Given the description of an element on the screen output the (x, y) to click on. 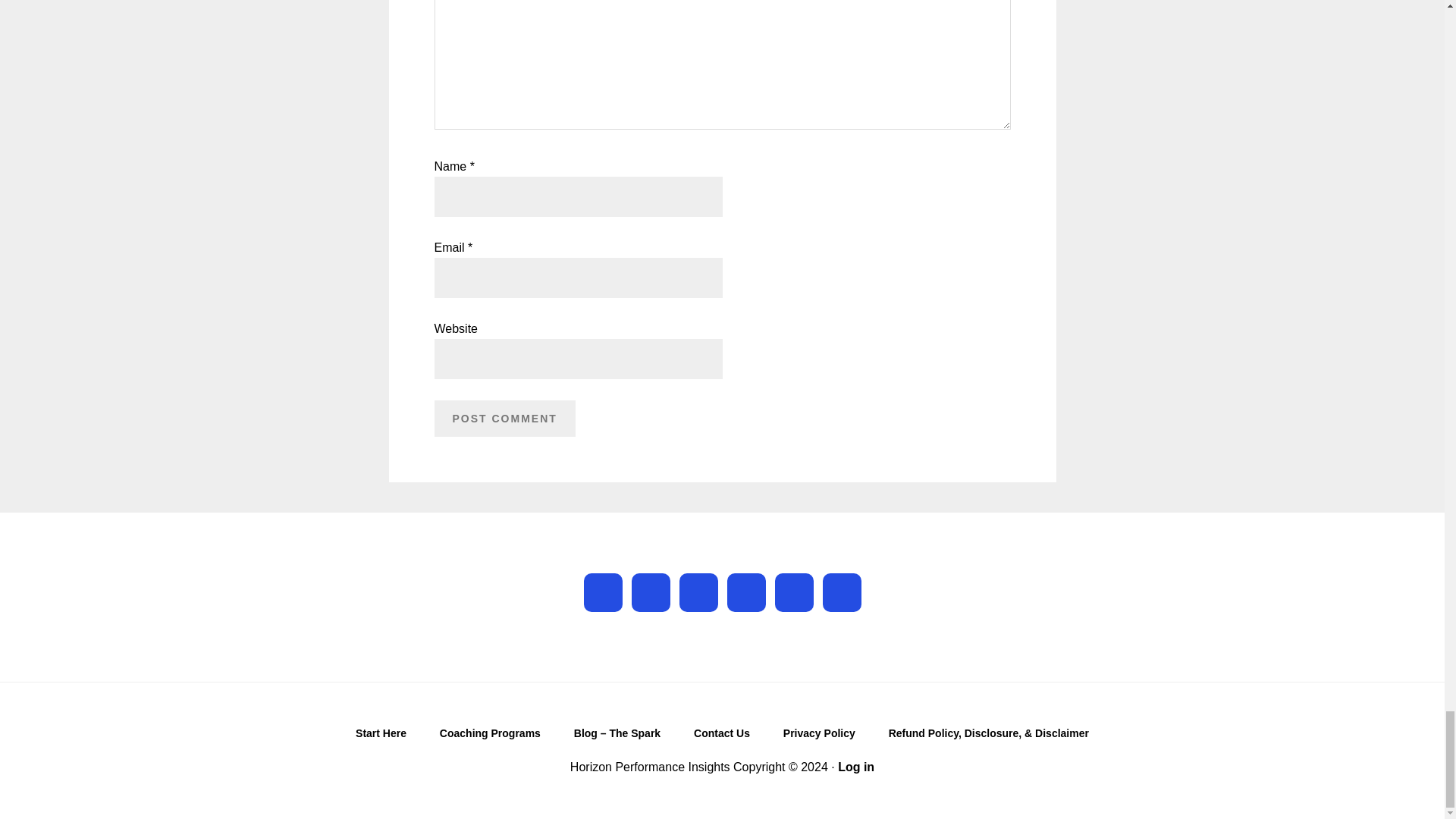
Post Comment (504, 418)
